Given the description of an element on the screen output the (x, y) to click on. 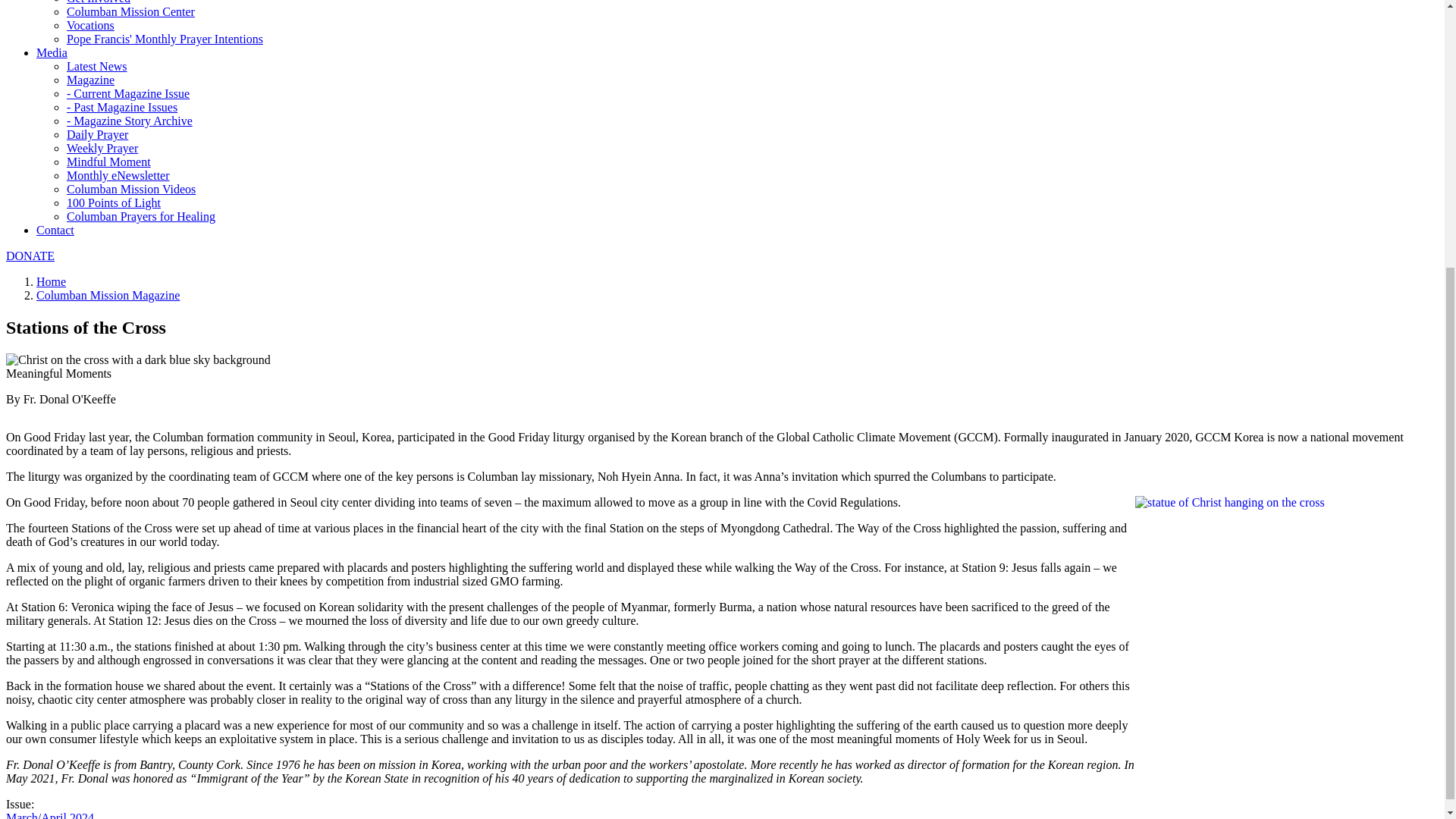
Media (51, 51)
- Current Magazine Issue (127, 92)
Pope Francis' Monthly Prayer Intentions (164, 38)
Magazine (90, 79)
Columban Mission Center (130, 11)
Latest News (97, 65)
Vocations (90, 24)
Get Involved (98, 2)
- Past Magazine Issues (121, 106)
